Given the description of an element on the screen output the (x, y) to click on. 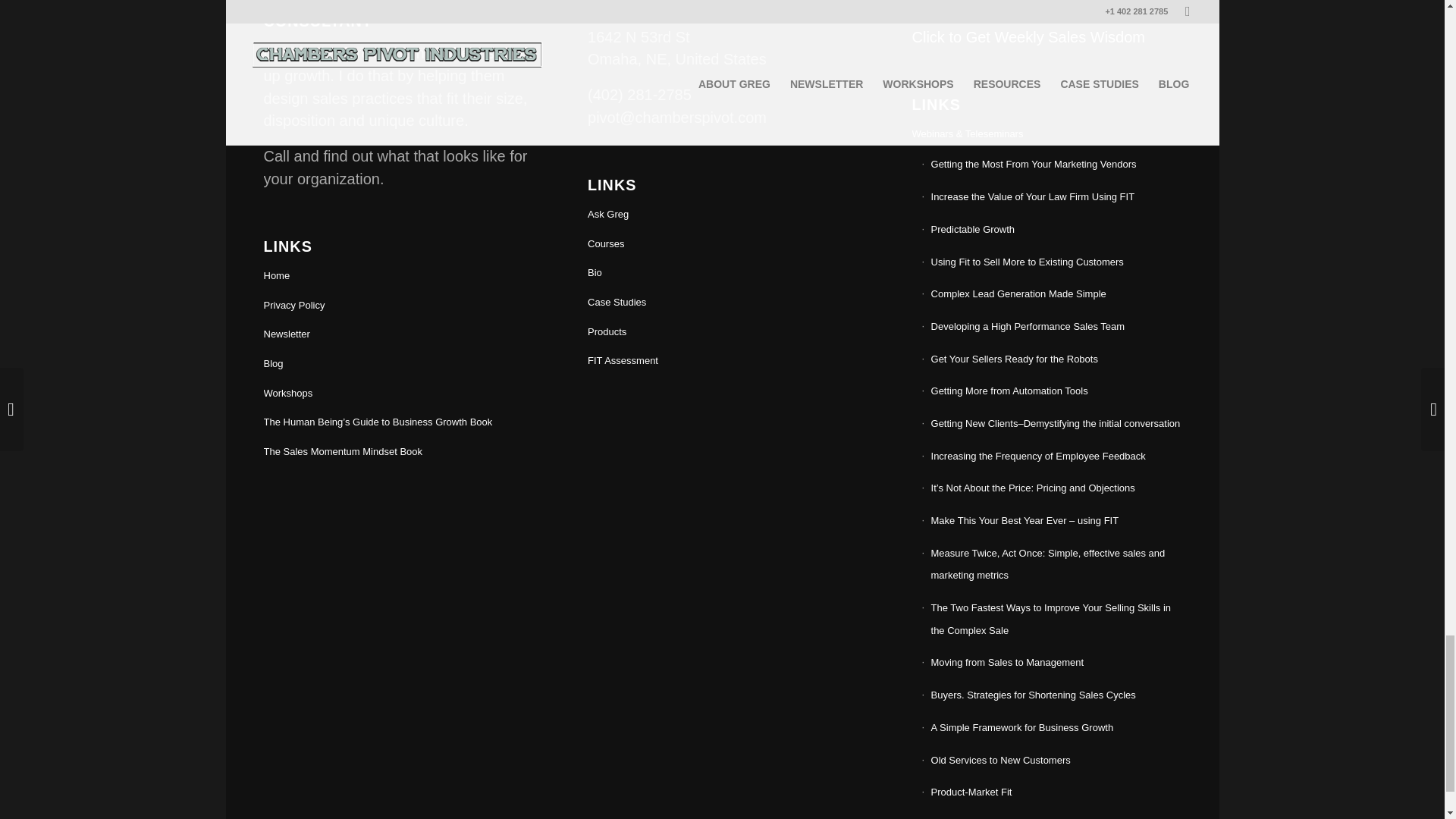
Newsletter (397, 334)
Workshops (397, 393)
Blog (397, 364)
FIT Assessment (722, 360)
Home (397, 276)
The Sales Momentum Mindset Book (397, 451)
Case Studies (722, 302)
Bio (722, 273)
Courses (722, 244)
Privacy Policy (397, 306)
